Given the description of an element on the screen output the (x, y) to click on. 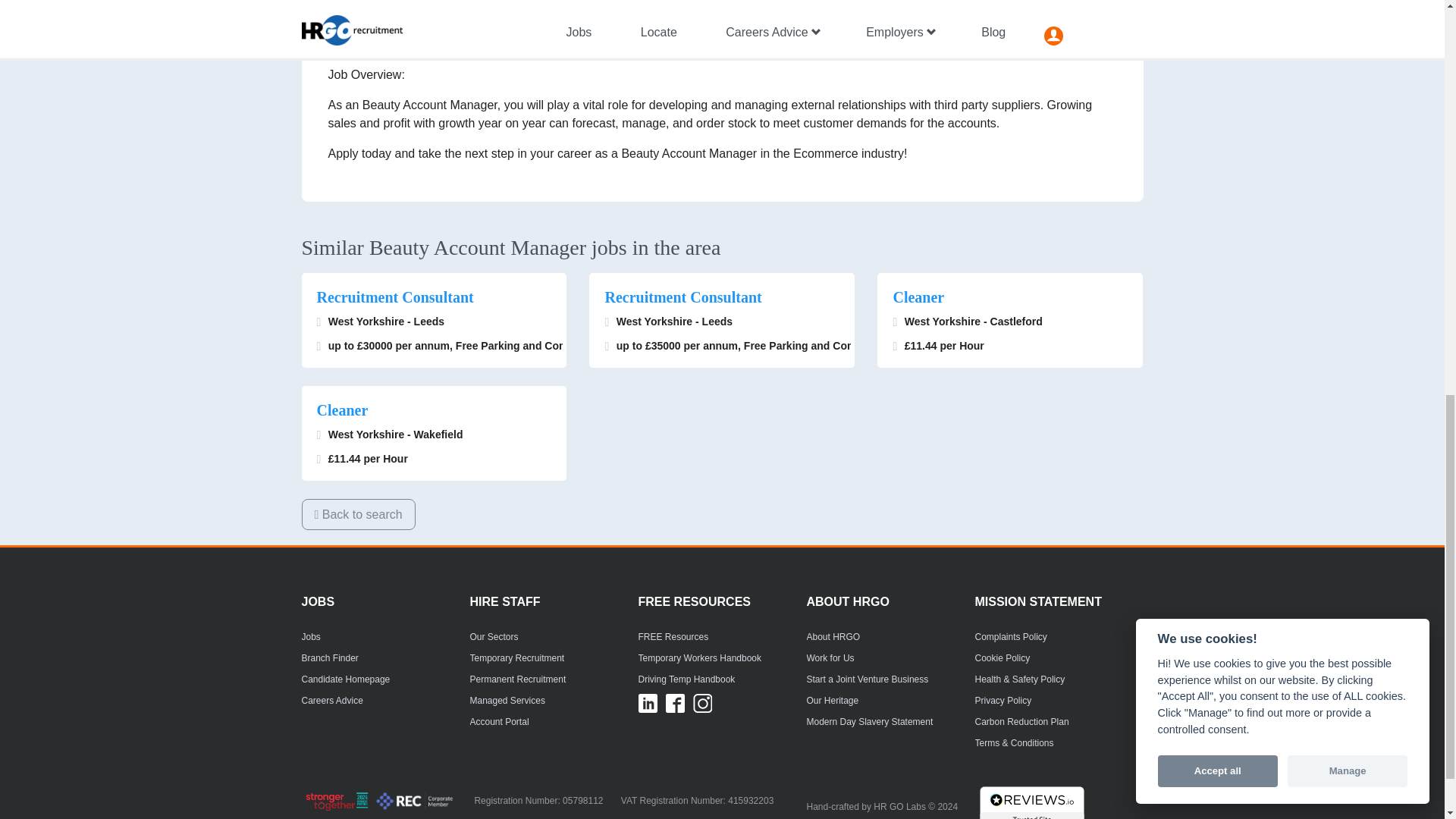
HR GO LinkedIn page (648, 702)
HR GO Facebook page (674, 702)
Cleaner (434, 410)
Back to search (357, 513)
Recruitment Consultant (722, 297)
Recruitment Consultant (434, 297)
HR GO Instagram page (702, 702)
Cleaner (1009, 297)
